Given the description of an element on the screen output the (x, y) to click on. 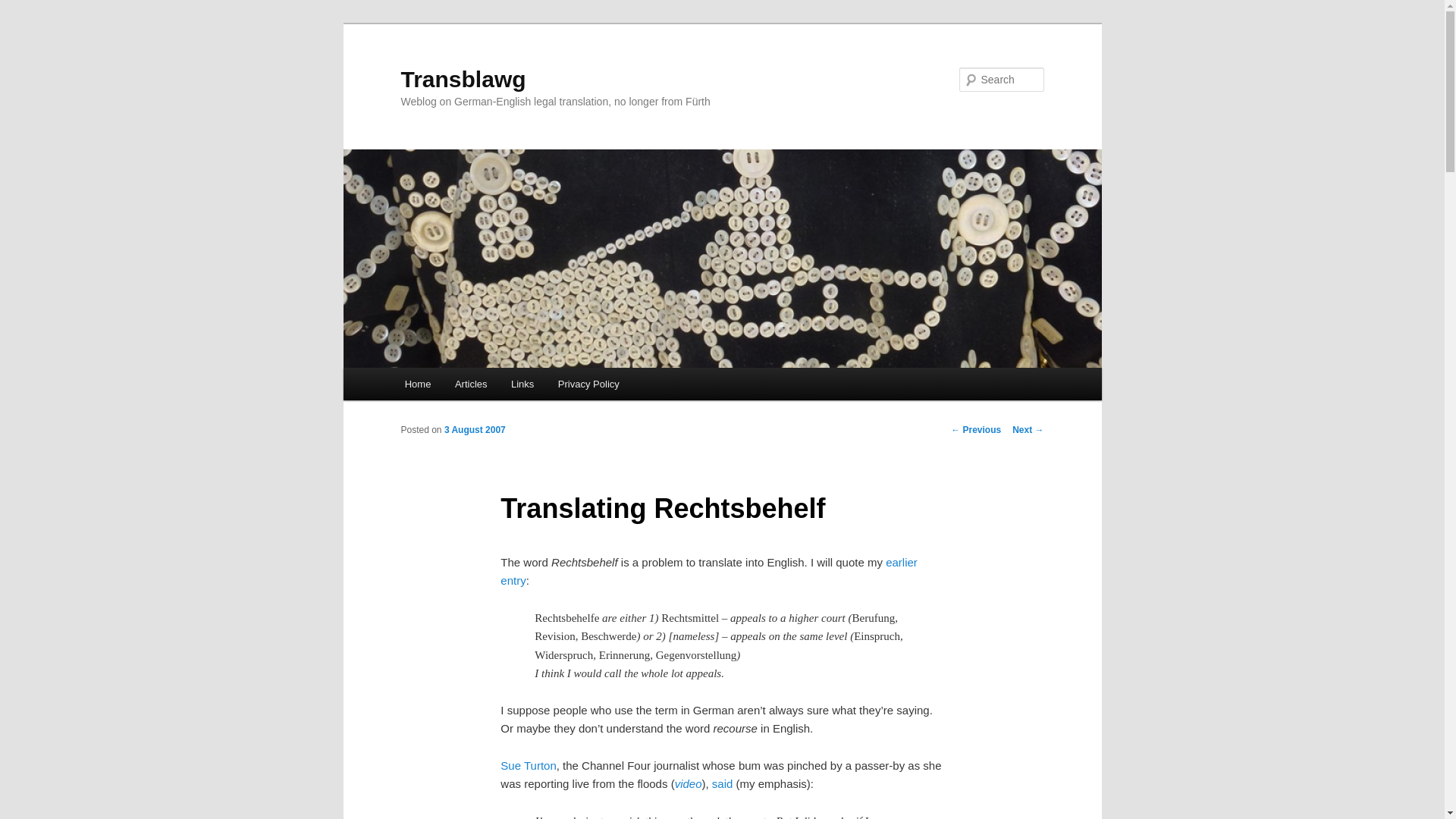
said (723, 783)
3 August 2007 (474, 429)
Sue Turton (528, 765)
Home (417, 383)
Transblawg (462, 78)
Search (24, 8)
Links (522, 383)
Privacy Policy (588, 383)
Articles (470, 383)
earlier entry (708, 571)
video (688, 783)
